Given the description of an element on the screen output the (x, y) to click on. 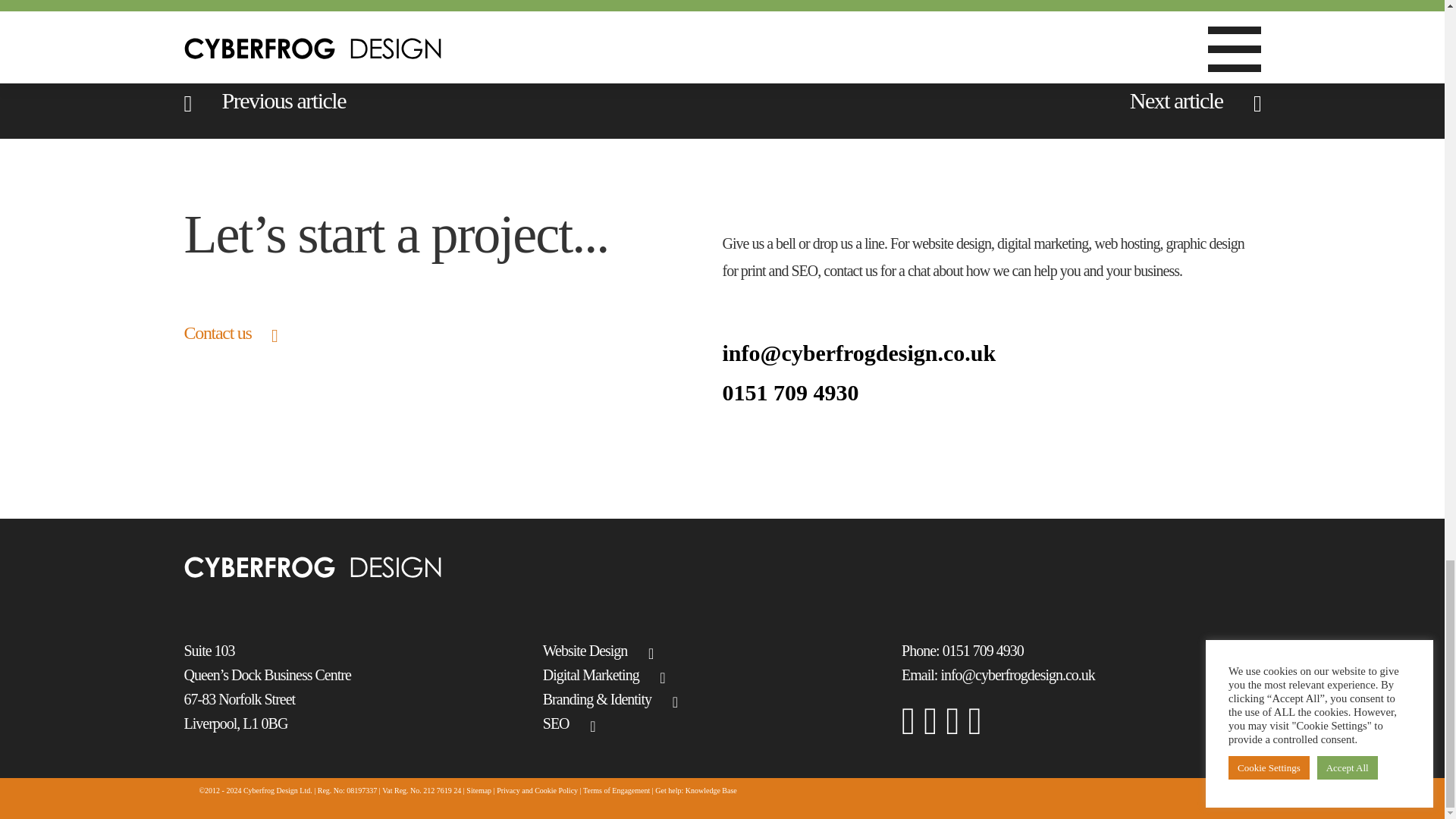
Previous article (264, 100)
Contact us (229, 332)
0151 709 4930 (991, 392)
0151 709 4930 (982, 650)
Next article (1194, 100)
Website Design (722, 650)
SEO (722, 723)
Digital Marketing (722, 674)
